Given the description of an element on the screen output the (x, y) to click on. 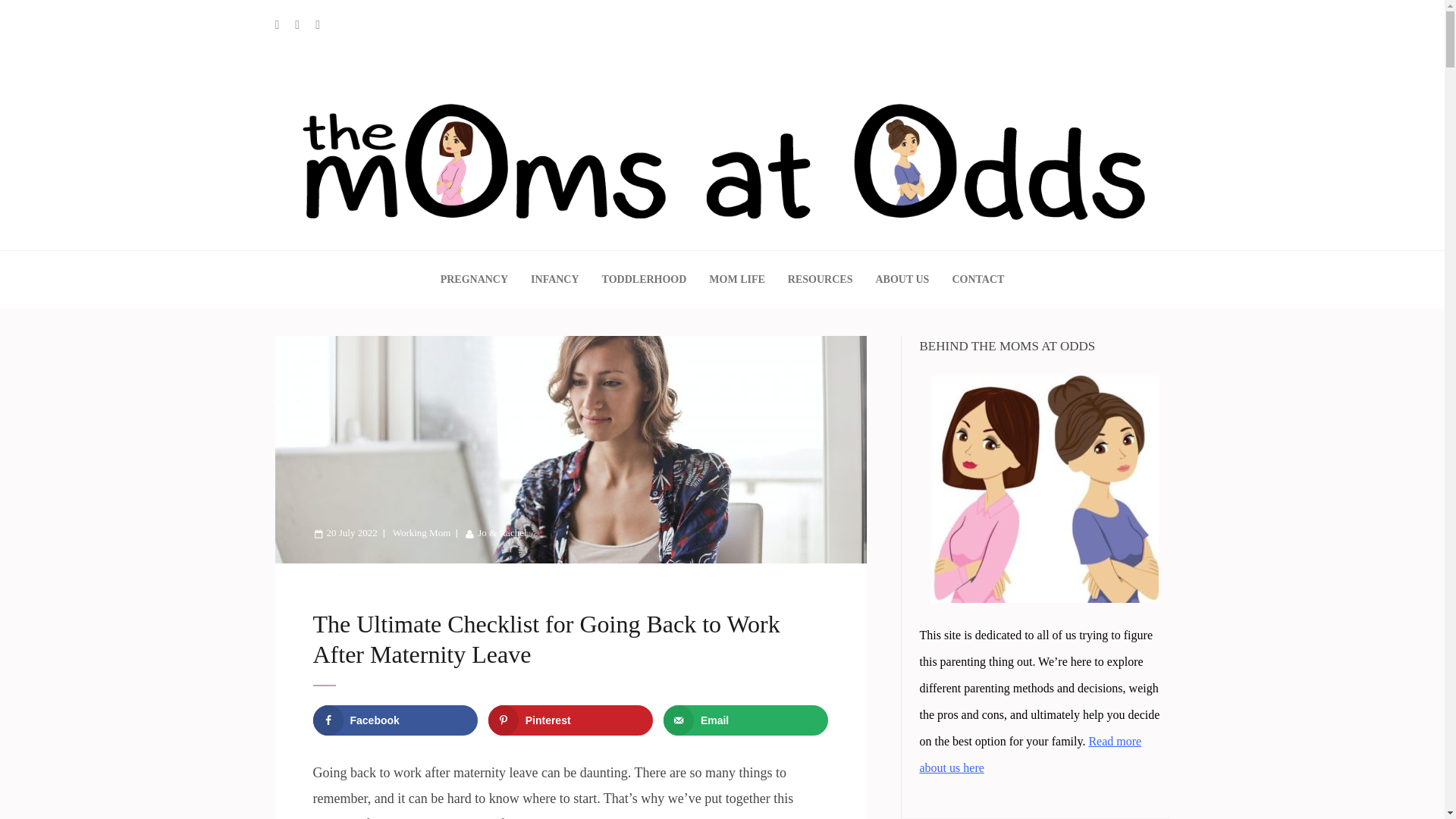
20 July 2022 (345, 532)
Email (745, 720)
Pinterest (570, 720)
PREGNANCY (474, 279)
CONTACT (978, 279)
TODDLERHOOD (644, 279)
Facebook (395, 720)
ABOUT US (901, 279)
Share on Facebook (395, 720)
MOM LIFE (737, 279)
